Given the description of an element on the screen output the (x, y) to click on. 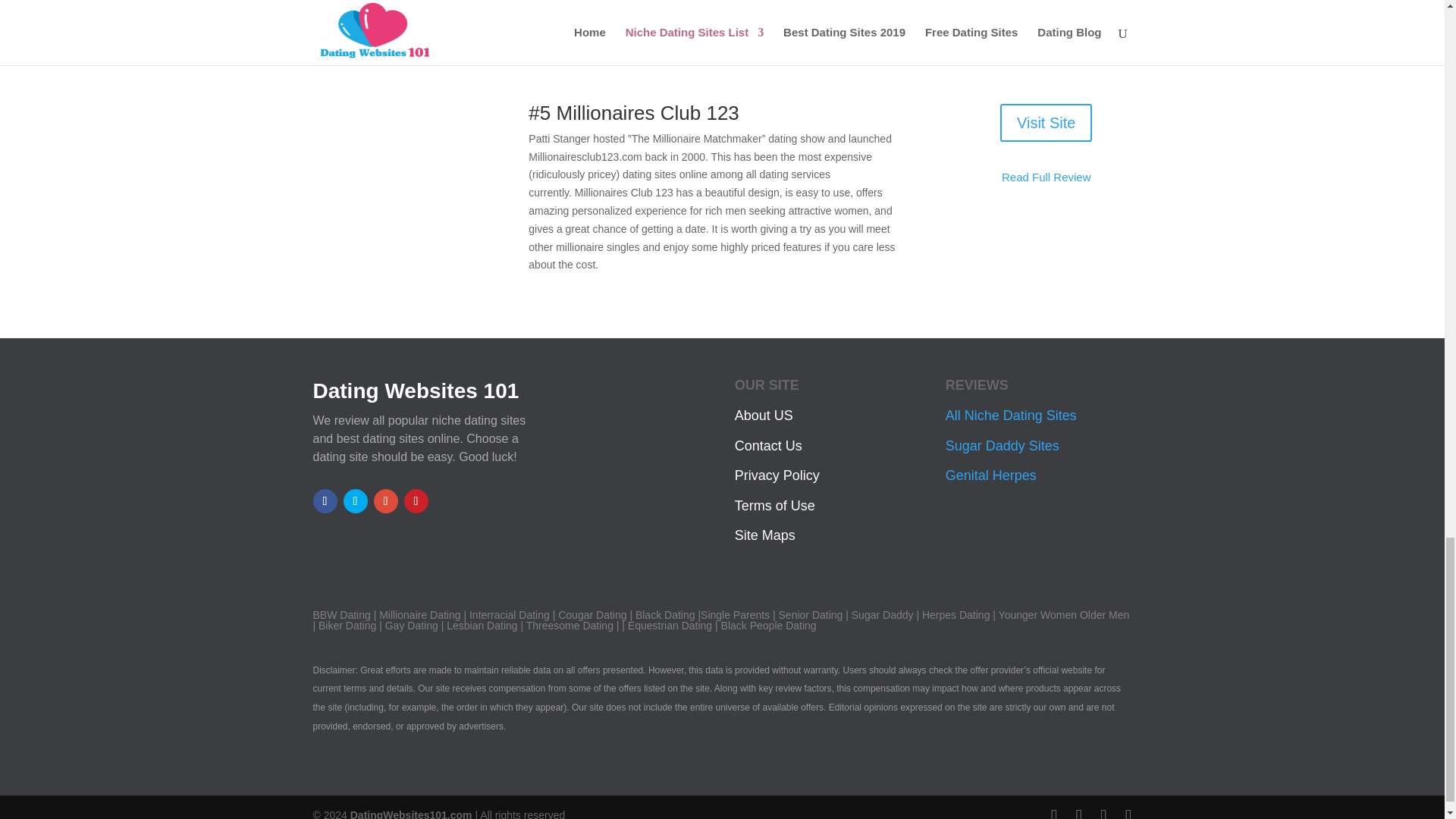
Follow on Pinterest (415, 500)
Follow on Facebook (324, 500)
Follow on Twitter (354, 500)
